Given the description of an element on the screen output the (x, y) to click on. 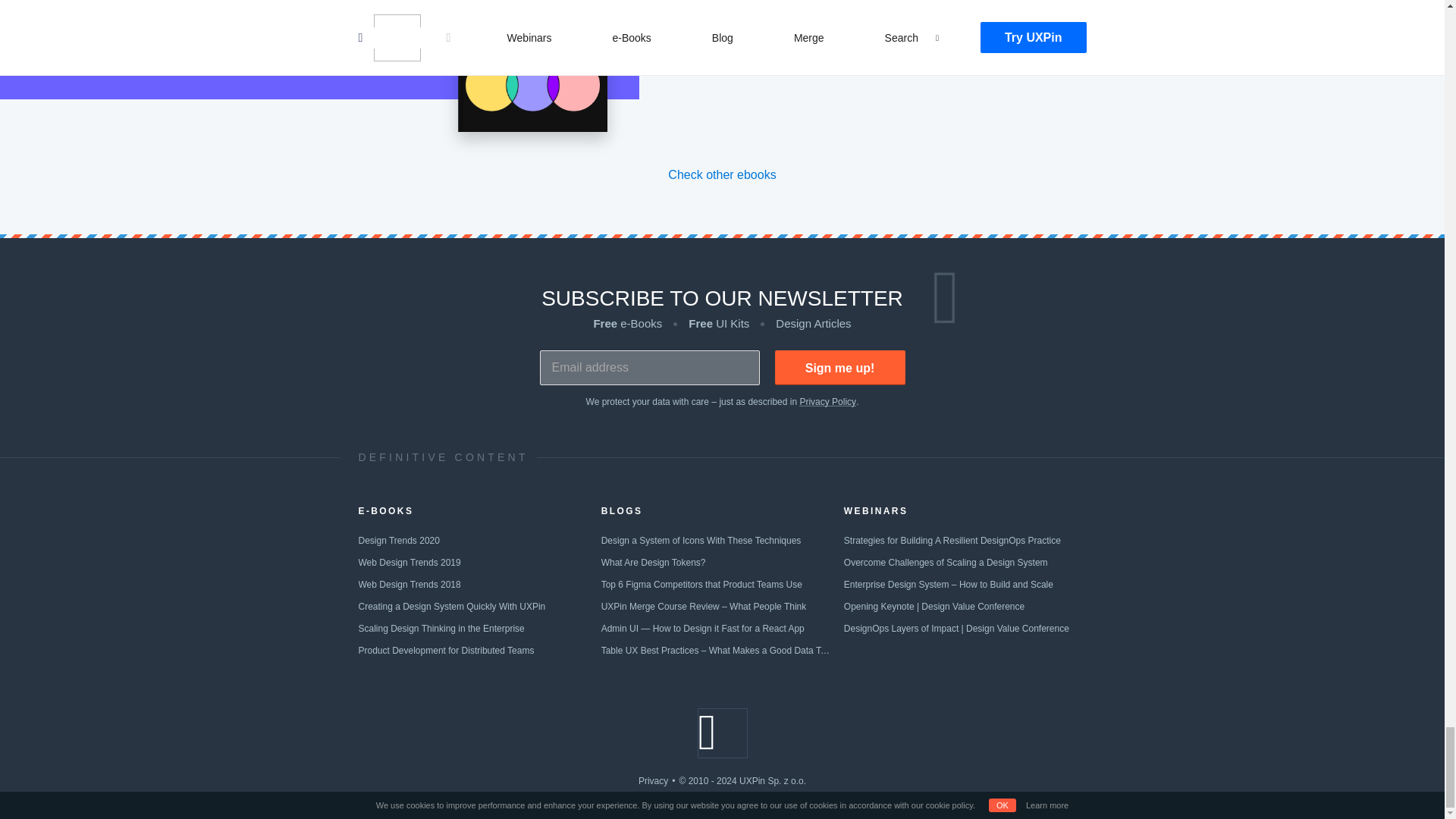
Go to UXPin.com (722, 733)
